Given the description of an element on the screen output the (x, y) to click on. 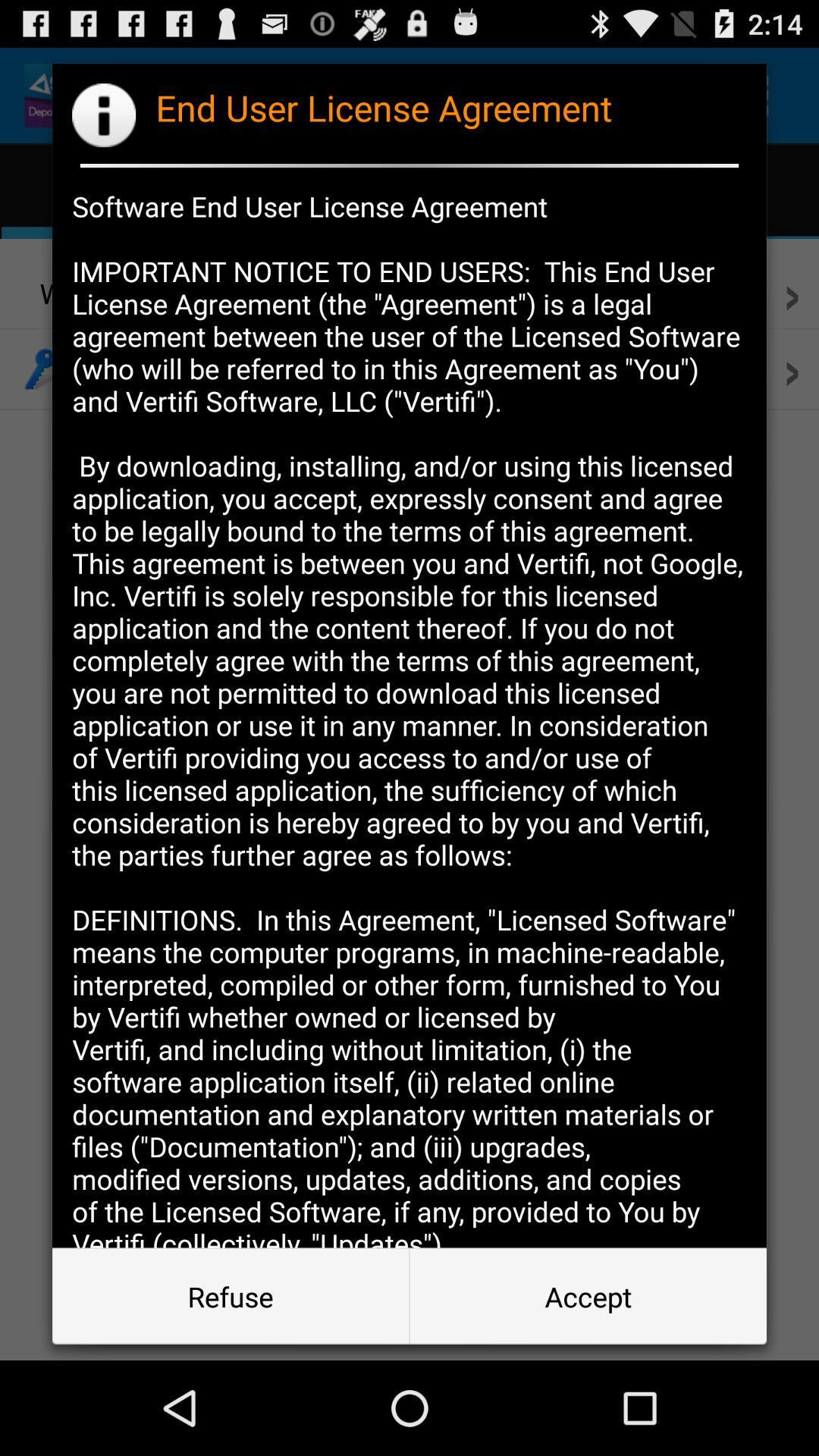
press button to the left of the accept button (230, 1296)
